Given the description of an element on the screen output the (x, y) to click on. 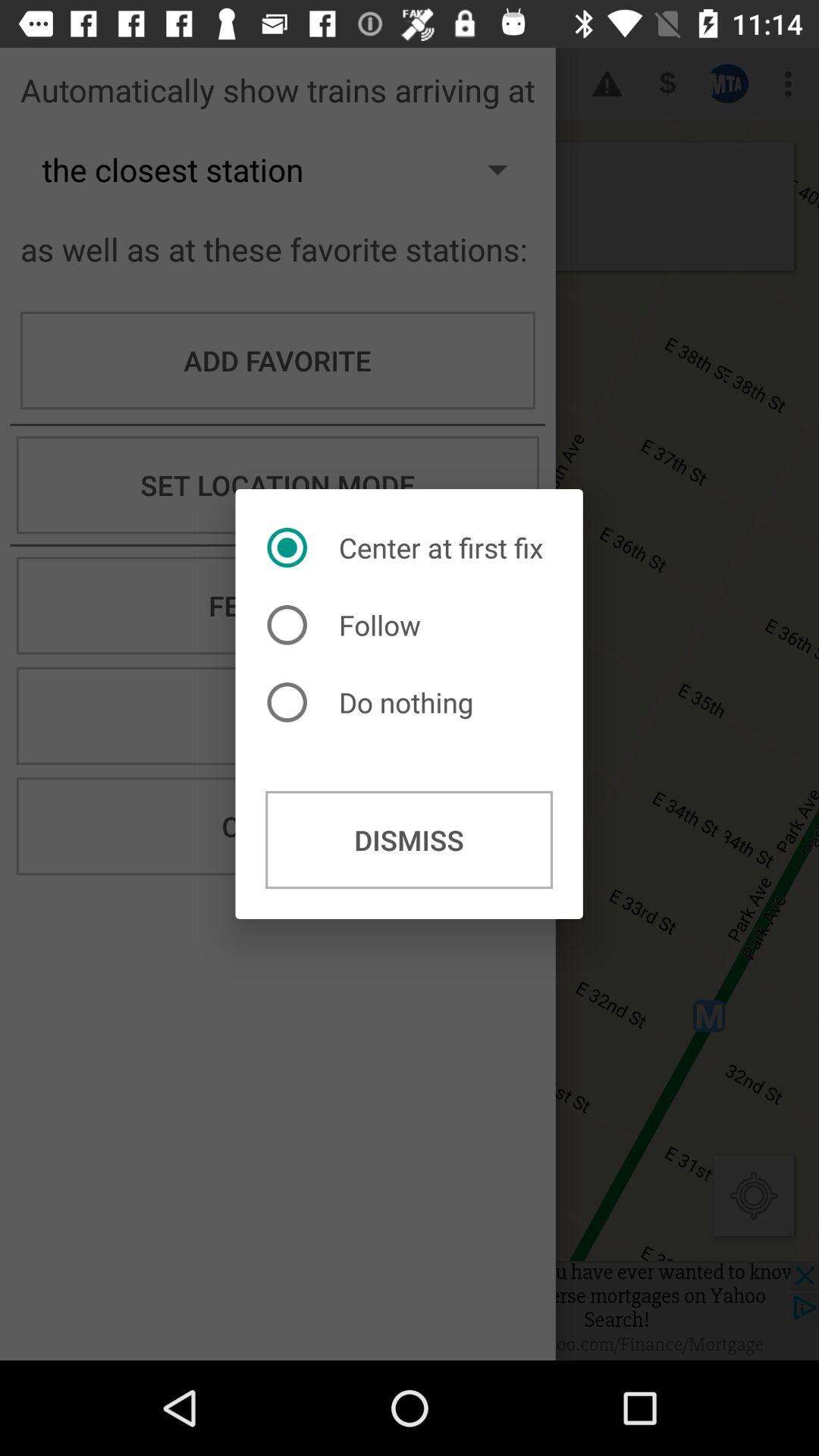
scroll to the center at first icon (409, 547)
